Given the description of an element on the screen output the (x, y) to click on. 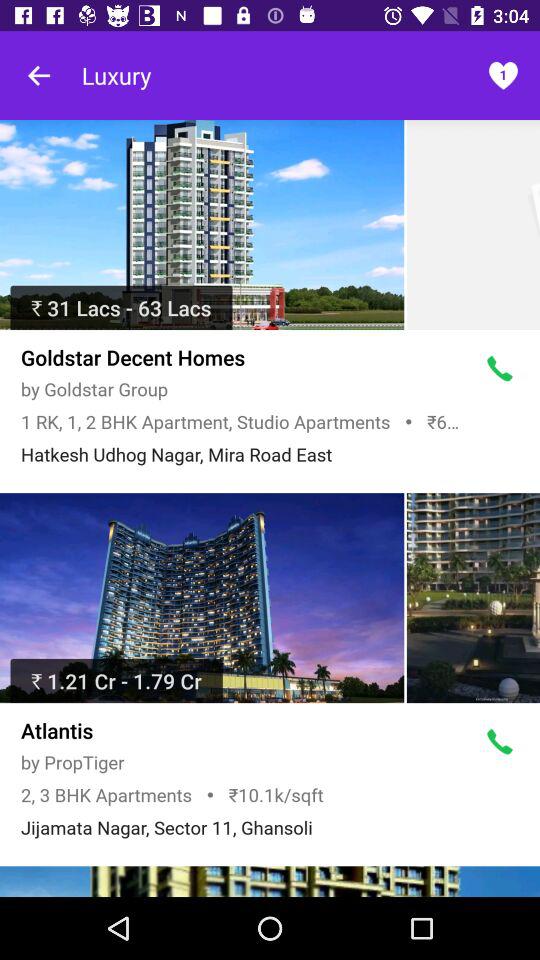
tap the icon next to the luxury icon (502, 75)
